Given the description of an element on the screen output the (x, y) to click on. 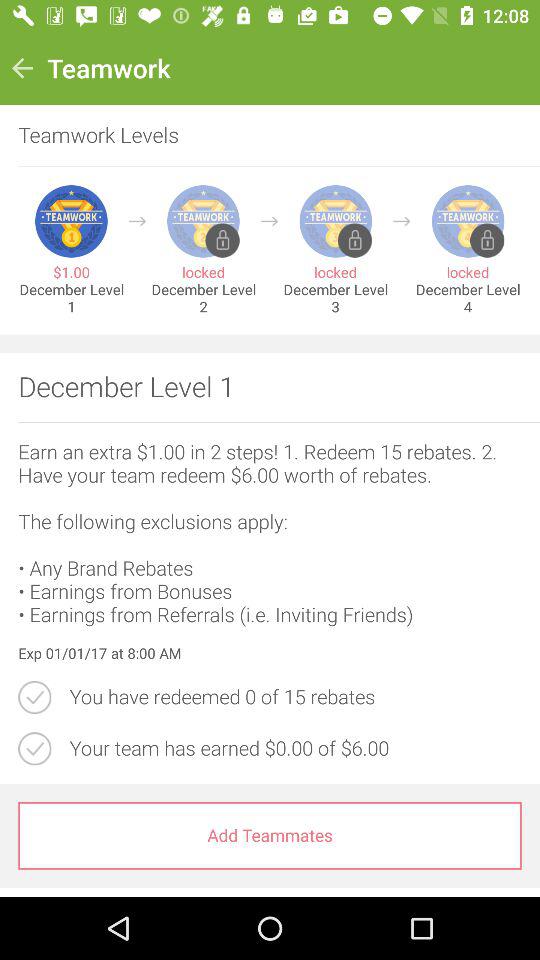
select you have redeemed item (295, 697)
